Given the description of an element on the screen output the (x, y) to click on. 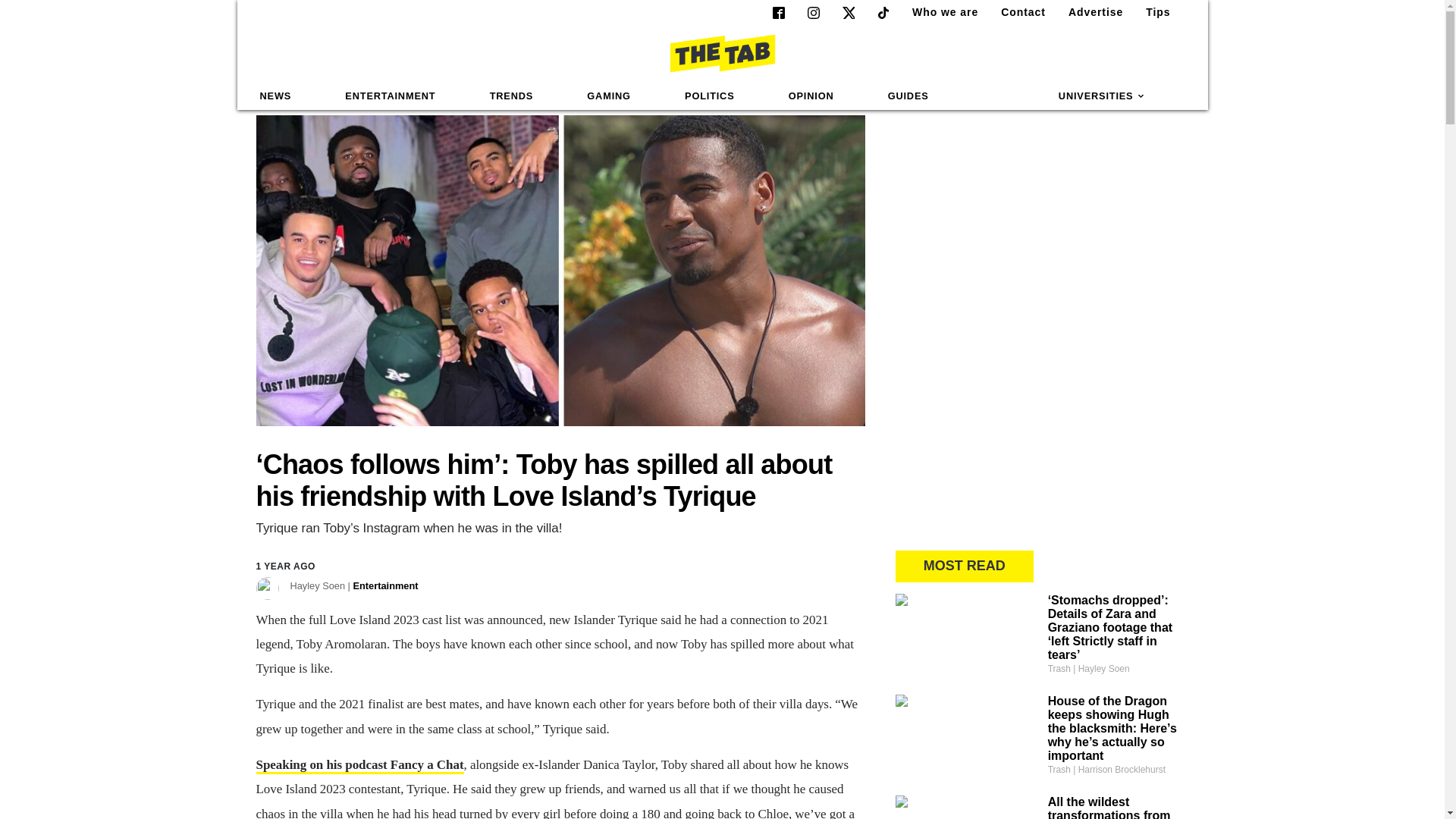
GAMING (608, 96)
TRENDS (511, 96)
Contact (1016, 11)
Posts by Hayley Soen (353, 585)
NEWS (275, 96)
UNIVERSITIES (1101, 96)
Advertise (1089, 11)
GUIDES (908, 96)
POLITICS (708, 96)
Tips (1152, 11)
OPINION (811, 96)
ENTERTAINMENT (389, 96)
Who we are (938, 11)
